Given the description of an element on the screen output the (x, y) to click on. 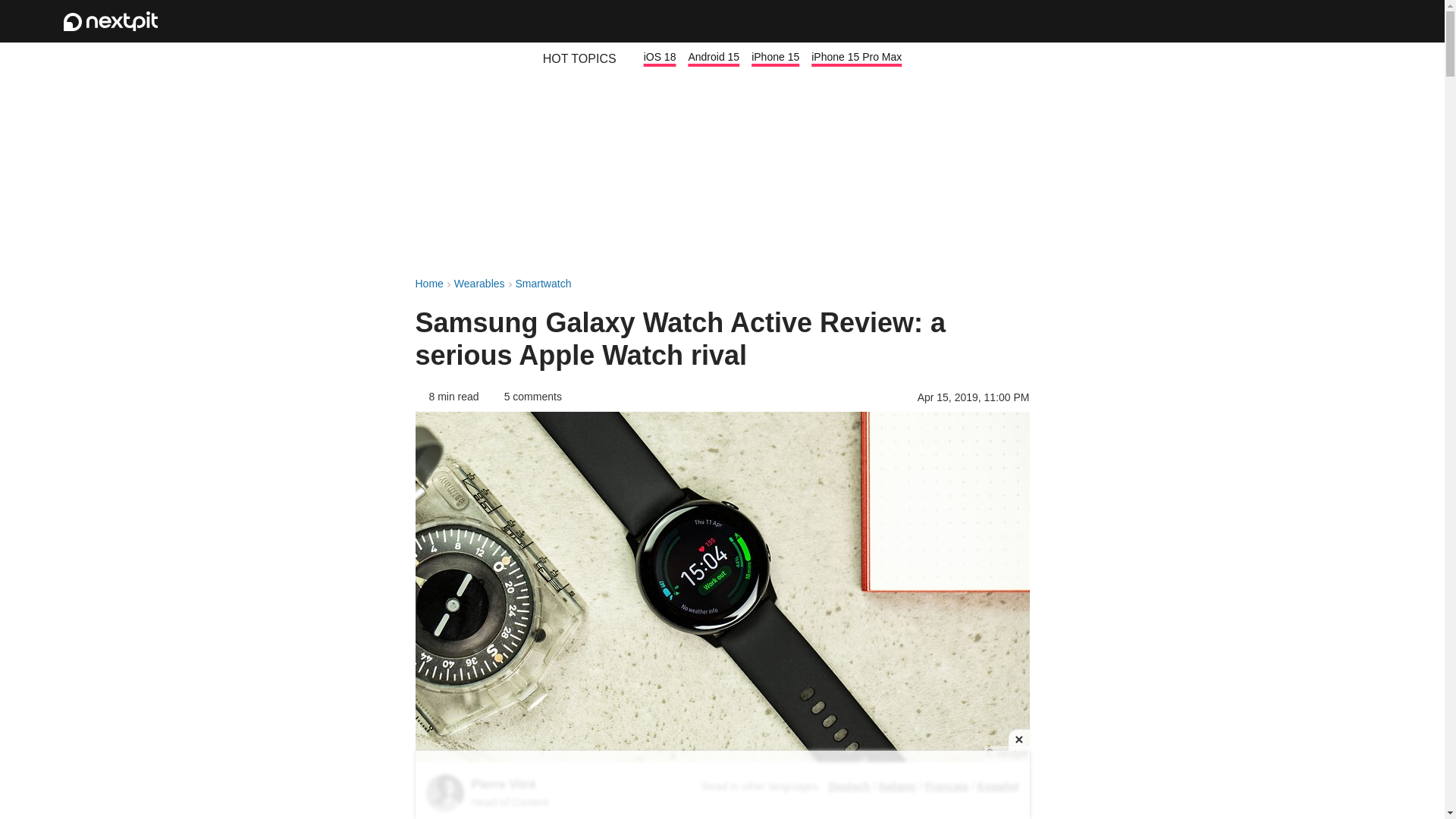
Read this article in Italian (897, 786)
Apr 15, 2019, 11:00:01 PM (973, 397)
8 min read (446, 396)
Read this article in German (848, 786)
Login (1321, 21)
To the nextpit homepage (110, 21)
Read this article in French (946, 786)
Read this article in Spanish (996, 786)
